Given the description of an element on the screen output the (x, y) to click on. 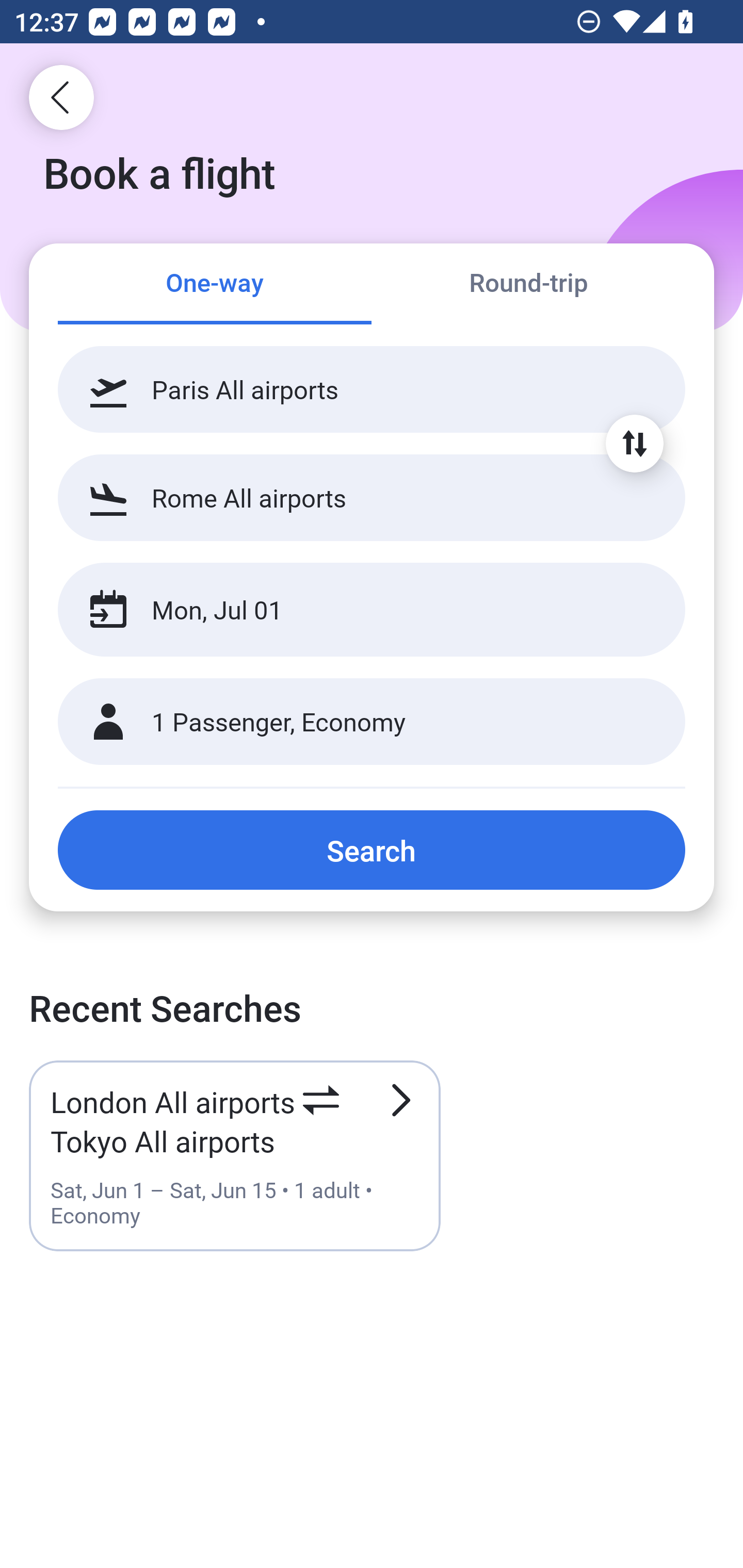
Round-trip (528, 284)
Paris All airports (371, 389)
Rome All airports (371, 497)
Mon, Jul 01 (349, 609)
1 Passenger, Economy (371, 721)
Search (371, 849)
